Given the description of an element on the screen output the (x, y) to click on. 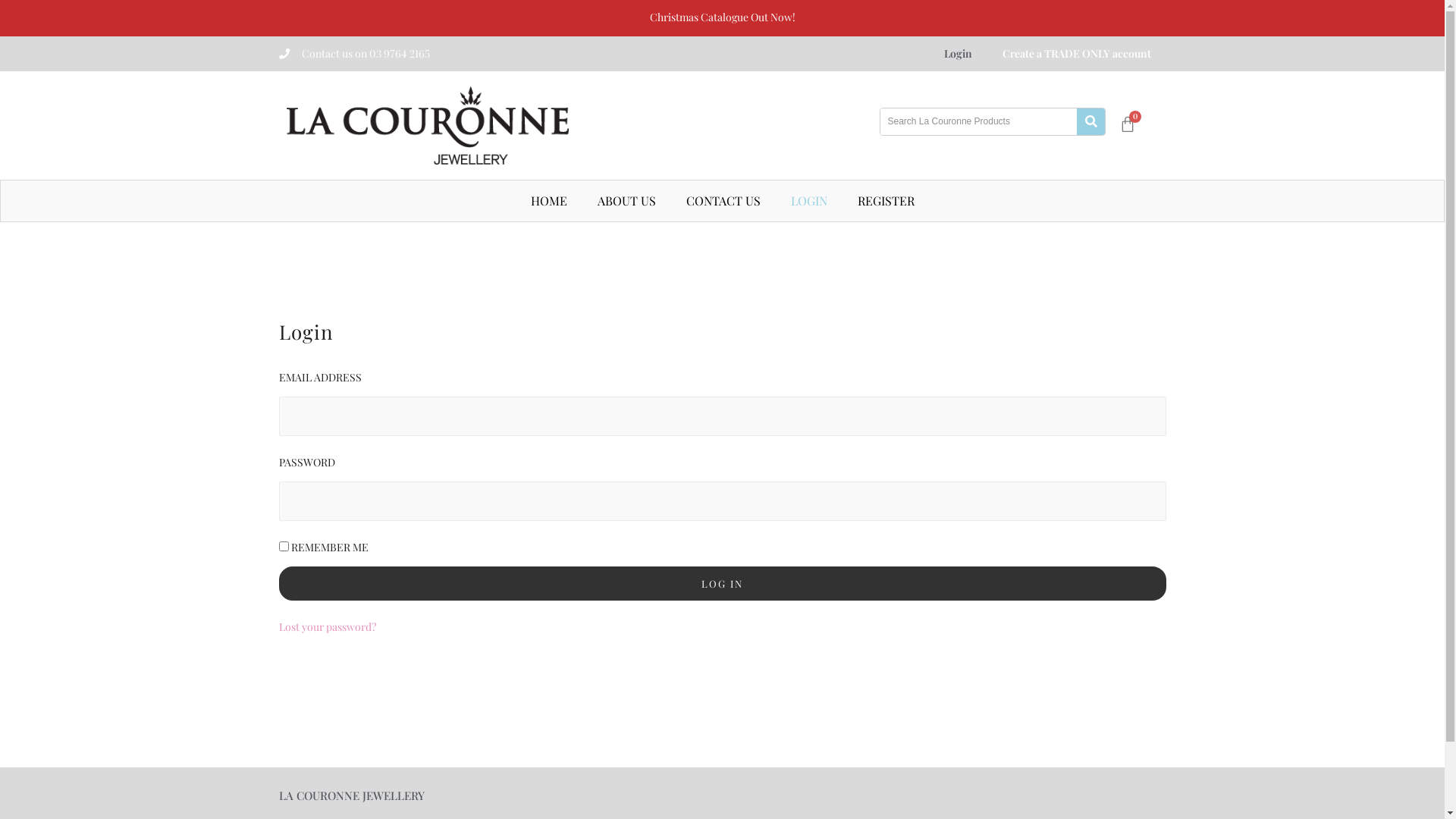
Contact us on 03 9764 2165 Element type: text (365, 53)
Login Element type: text (957, 53)
LOGIN Element type: text (808, 200)
CONTACT US Element type: text (722, 200)
0 Element type: text (1124, 124)
REGISTER Element type: text (884, 200)
LOG IN Element type: text (722, 583)
Lost your password? Element type: text (327, 626)
HOME Element type: text (548, 200)
Create a TRADE ONLY account Element type: text (1076, 53)
ABOUT US Element type: text (626, 200)
